Given the description of an element on the screen output the (x, y) to click on. 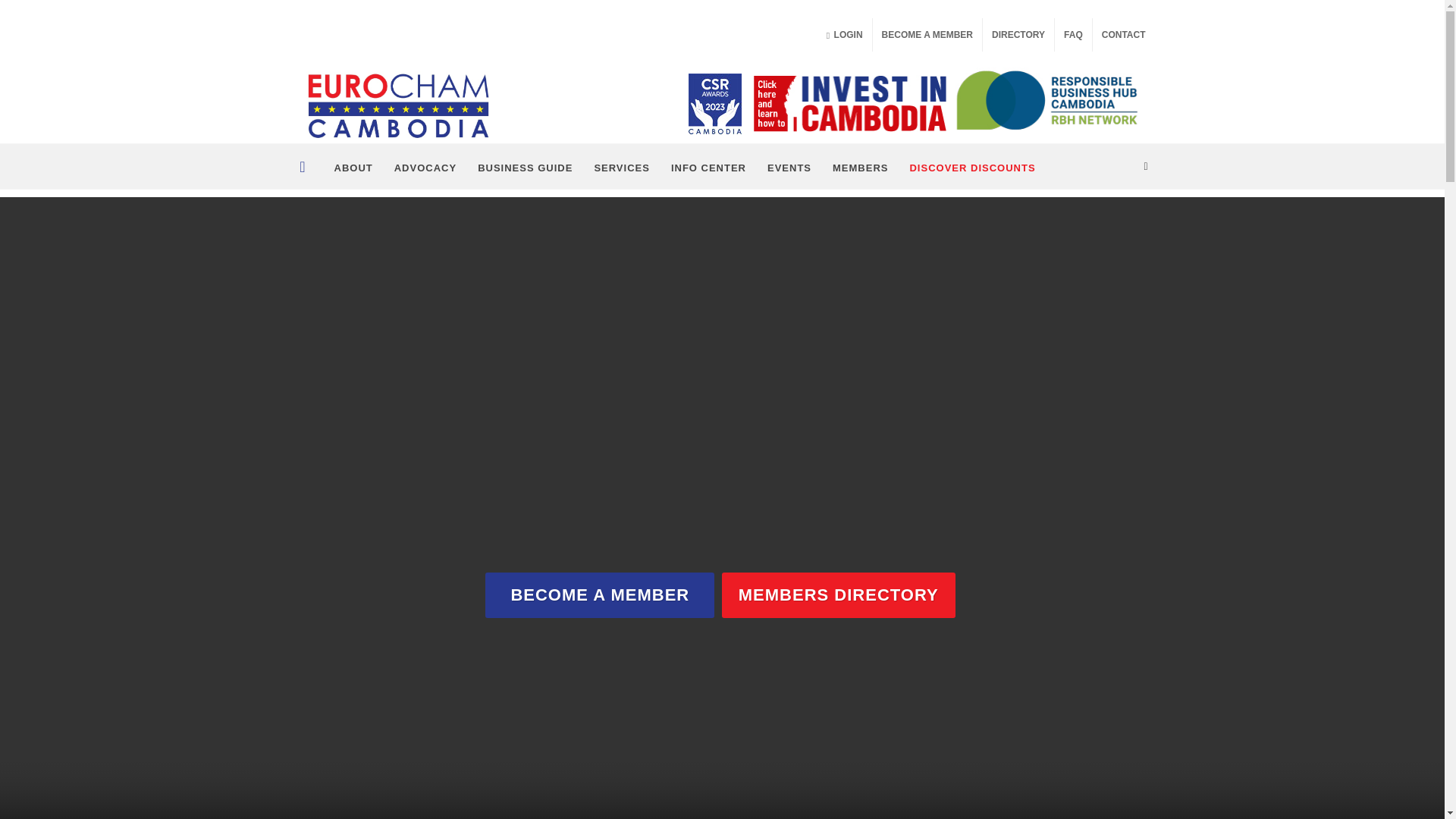
LOGIN (844, 34)
CONTACT (1123, 34)
FAQ (1073, 34)
ABOUT (350, 166)
BECOME A MEMBER (926, 34)
DIRECTORY (1018, 34)
ADVOCACY (422, 166)
